Given the description of an element on the screen output the (x, y) to click on. 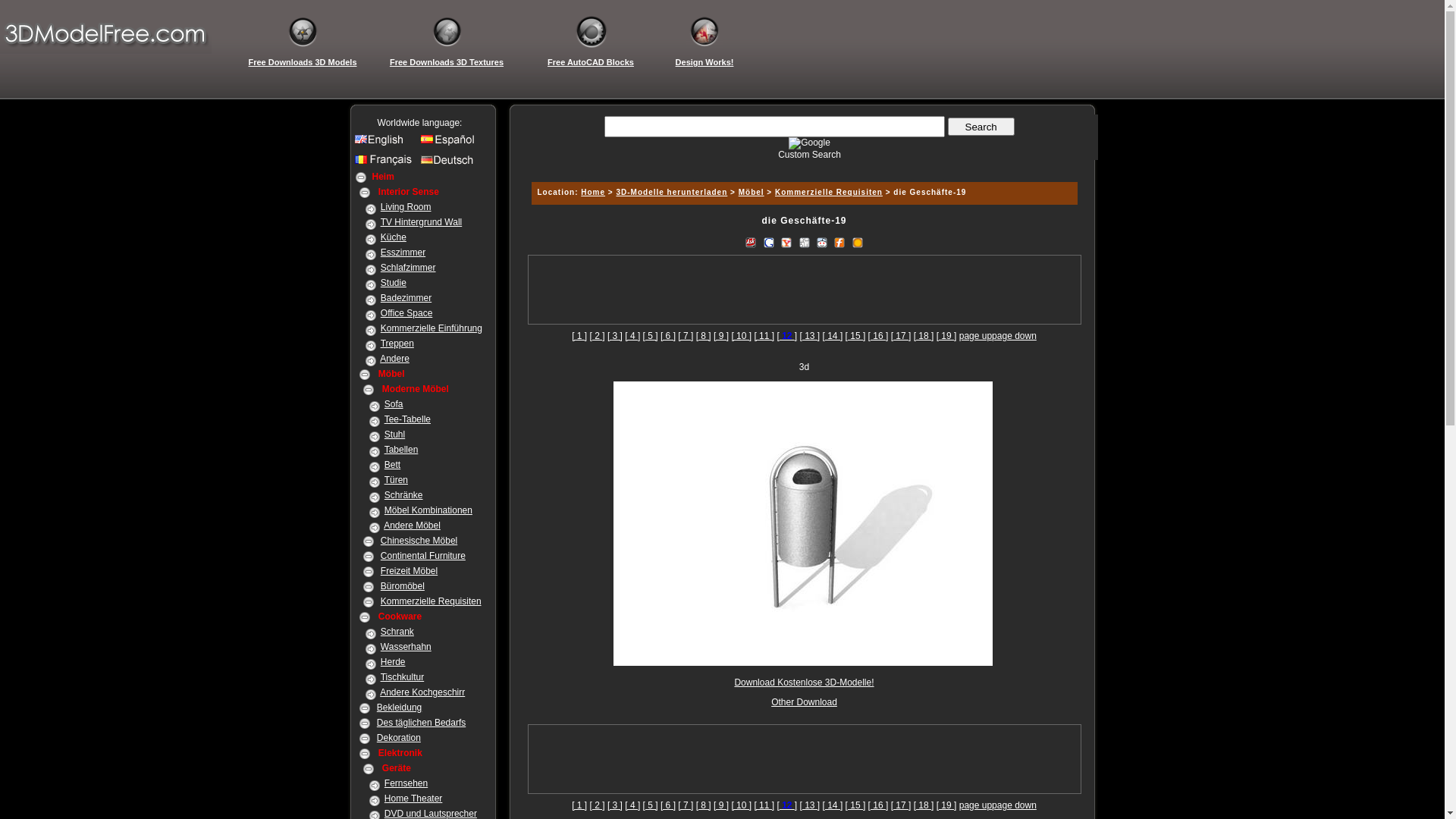
Schrank Element type: text (397, 631)
Wasserhahn Element type: text (405, 646)
[ 13 ] Element type: text (809, 805)
[ 4 ] Element type: text (632, 805)
Home Theater Element type: text (413, 798)
English site Element type: hover (384, 143)
[ 14 ] Element type: text (832, 335)
[ 13 ] Element type: text (809, 335)
[ 9 ] Element type: text (720, 335)
[ 6 ] Element type: text (667, 335)
[ 7 ] Element type: text (685, 805)
Studie Element type: text (393, 282)
Cookware Element type: text (399, 616)
Treppen Element type: text (397, 343)
    Search     Element type: text (980, 126)
3D-Modelle herunterladen Element type: text (671, 192)
bookmark to Jeeves Element type: hover (750, 241)
[ 14 ] Element type: text (832, 805)
Advertisement Element type: hover (803, 758)
Kommerzielle Requisiten Element type: text (430, 601)
[ 2 ] Element type: text (597, 335)
Andere Element type: text (394, 358)
[ 18 ] Element type: text (923, 805)
Esszimmer Element type: text (402, 252)
[ 9 ] Element type: text (720, 805)
TV Hintergrund Wall Element type: text (421, 221)
bookmark to Yahoo! MyWeb Element type: hover (785, 241)
[ 15 ] Element type: text (855, 335)
[ 2 ] Element type: text (597, 805)
[ 17 ] Element type: text (901, 805)
France site Element type: hover (384, 163)
Elektronik Element type: text (399, 752)
ABookmark  To Furl Element type: hover (839, 241)
page up Element type: text (975, 805)
Schlafzimmer Element type: text (408, 267)
[ 11 ] Element type: text (763, 805)
[ 3 ] Element type: text (614, 335)
Advertisement Element type: hover (802, 165)
Design Works! Element type: text (703, 61)
Fernsehen Element type: text (405, 783)
[ 10 ] Element type: text (741, 335)
[ 3 ] Element type: text (614, 805)
page up Element type: text (975, 335)
Free Downloads 3D Models Element type: text (302, 61)
Bett Element type: text (392, 464)
Herde Element type: text (392, 661)
Heim Element type: text (382, 176)
Free AutoCAD Blocks Element type: text (590, 61)
Free Downloads 3D Textures Element type: text (446, 61)
[ 6 ] Element type: text (667, 805)
[ 8 ] Element type: text (703, 805)
[ 5 ] Element type: text (650, 335)
Bookmark to Google Element type: hover (768, 241)
Bekleidung Element type: text (398, 707)
Add to ma.gnolia Element type: hover (857, 241)
[ 17 ] Element type: text (901, 335)
Continental Furniture Element type: text (422, 555)
Add to reddit Element type: hover (821, 241)
Andere Kochgeschirr Element type: text (421, 692)
[ 19 ] Element type: text (946, 335)
[ 15 ] Element type: text (855, 805)
Stuhl Element type: text (394, 434)
Other Download Element type: text (804, 701)
page down Element type: text (1013, 335)
[ 16 ] Element type: text (878, 805)
Tee-Tabelle Element type: text (407, 419)
Office Space Element type: text (406, 312)
Germany site Element type: hover (450, 163)
[ 8 ] Element type: text (703, 335)
[ 12 ] Element type: text (786, 805)
[ 4 ] Element type: text (632, 335)
[ 5 ] Element type: text (650, 805)
[ 12 ] Element type: text (786, 335)
[ 18 ] Element type: text (923, 335)
Living Room Element type: text (405, 206)
Kommerzielle Requisiten Element type: text (828, 192)
[ 10 ] Element type: text (741, 805)
Digg This! Element type: hover (803, 241)
Tischkultur Element type: text (402, 676)
[ 1 ] Element type: text (578, 335)
[ 16 ] Element type: text (878, 335)
[ 19 ] Element type: text (946, 805)
Spanish site Element type: hover (450, 143)
Tabellen Element type: text (401, 449)
Advertisement Element type: hover (803, 346)
Home Element type: text (592, 192)
[ 7 ] Element type: text (685, 335)
Interior Sense Element type: text (408, 191)
Dekoration Element type: text (398, 737)
Sofa Element type: text (393, 403)
Badezimmer Element type: text (405, 297)
page down Element type: text (1013, 805)
Advertisement Element type: hover (803, 289)
[ 11 ] Element type: text (763, 335)
[ 1 ] Element type: text (578, 805)
Download Kostenlose 3D-Modelle! Element type: text (803, 682)
